Given the description of an element on the screen output the (x, y) to click on. 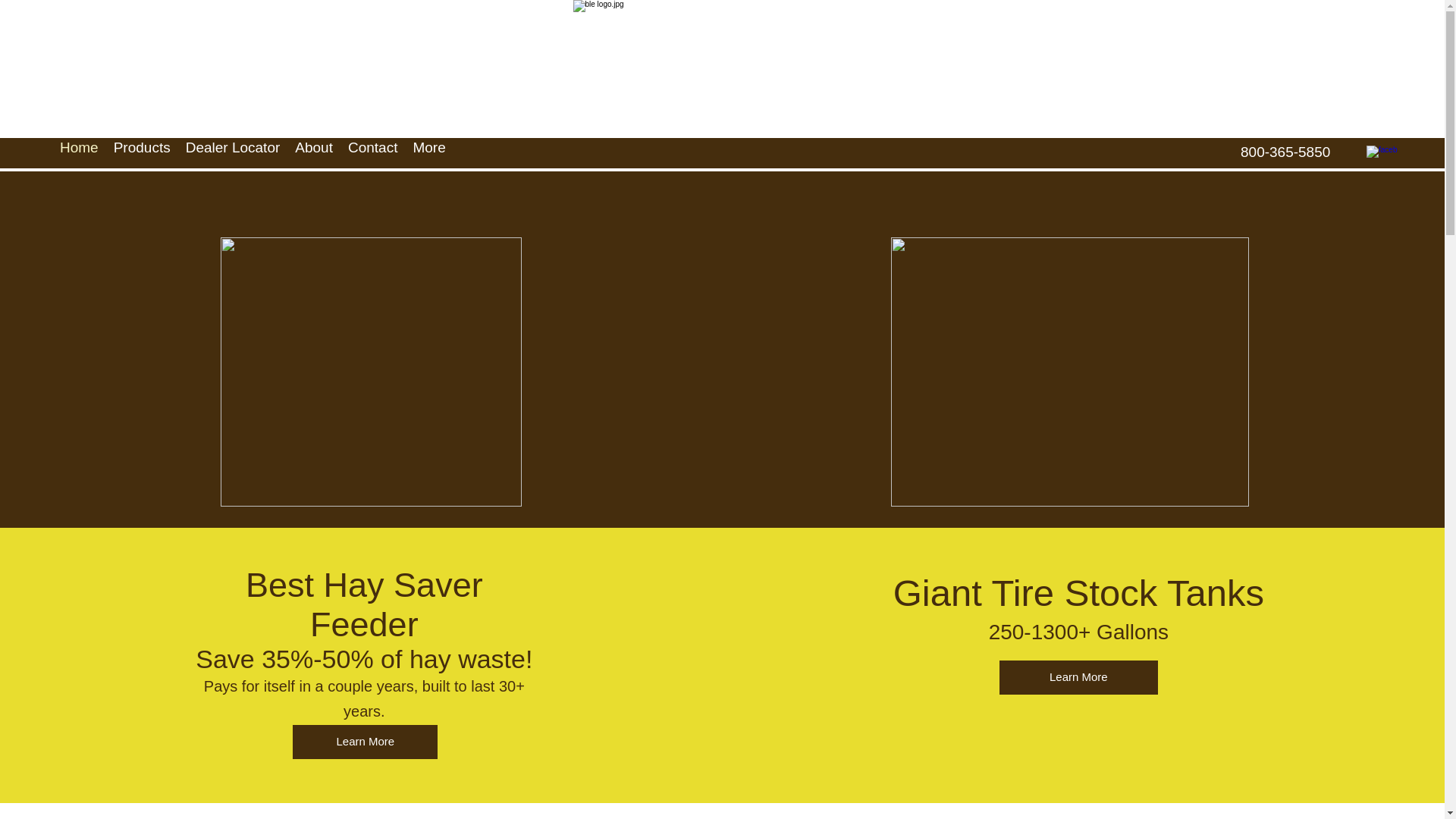
Products (141, 151)
2024-05-10 15.00.04.jpg (1070, 371)
About (313, 151)
Home (79, 151)
Contact (372, 151)
Learn More (1077, 677)
Dealer Locator (232, 151)
Learn More (365, 741)
